Given the description of an element on the screen output the (x, y) to click on. 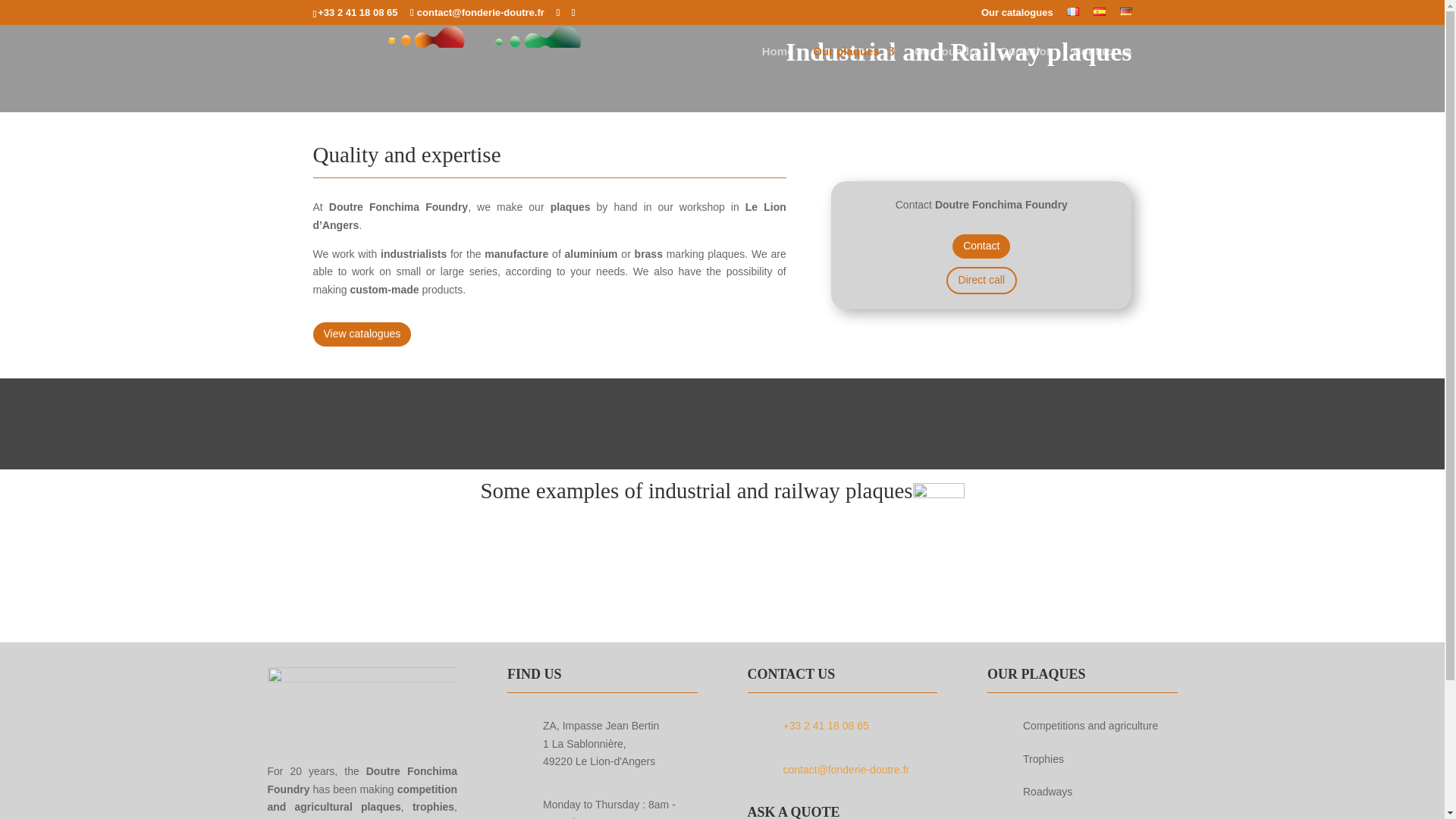
Contact us (1102, 62)
Quotation (1025, 62)
Our plaques (853, 62)
View catalogues (361, 334)
Direct call (981, 280)
Our foundry (946, 62)
Home (777, 62)
logo-fonderie-doutre (361, 699)
Our catalogues (1016, 16)
Contact (981, 246)
